Given the description of an element on the screen output the (x, y) to click on. 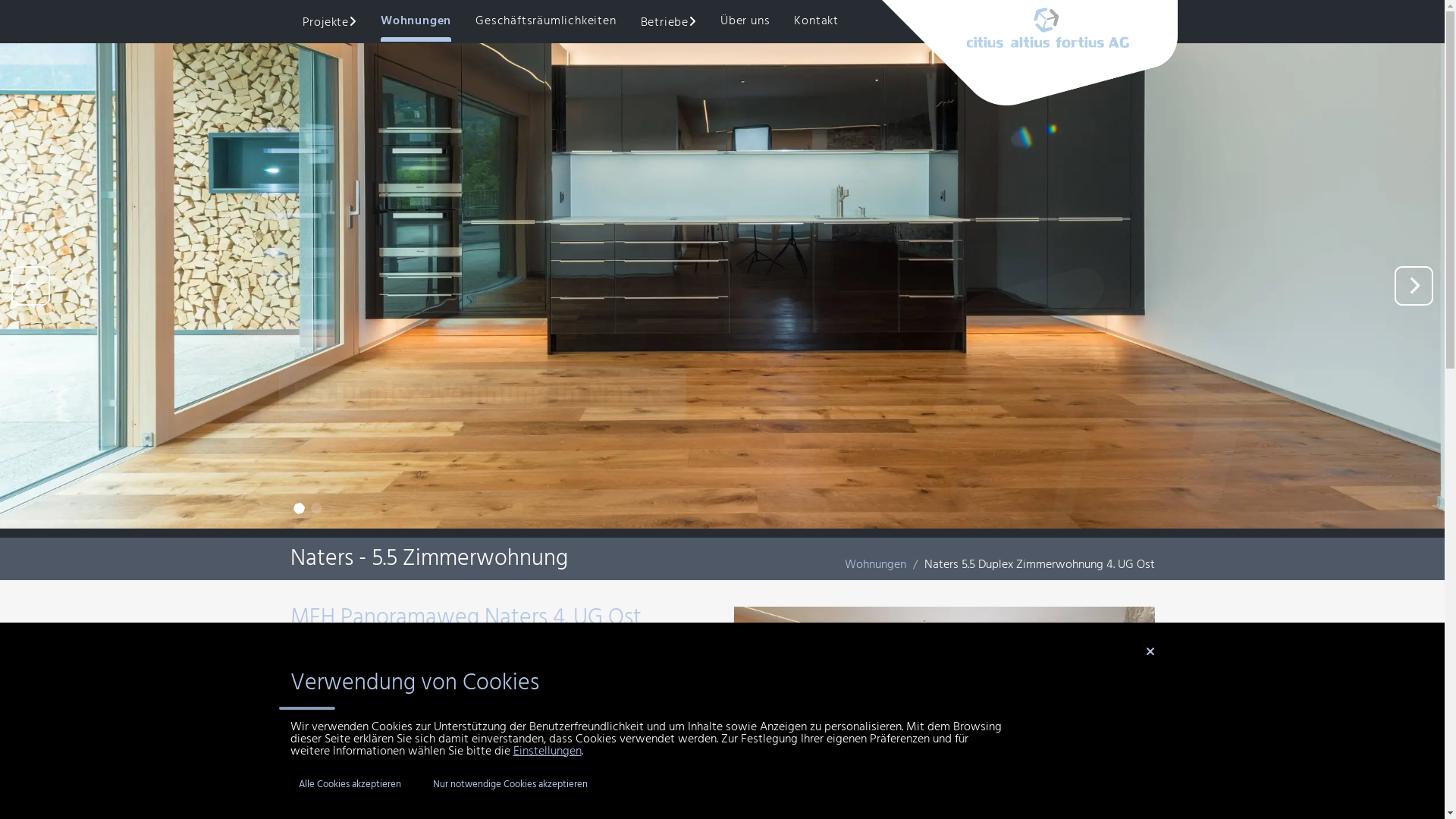
Ben Resort Element type: text (396, 29)
Projekte Element type: text (328, 21)
Wohnungen Element type: text (415, 20)
Nur notwendige Cookies akzeptieren Element type: text (510, 783)
Bistro Des Alpes Element type: text (707, 29)
Wohnungen Element type: text (875, 564)
Alle Cookies akzeptieren Element type: text (348, 783)
Kontakt Element type: text (815, 20)
Einstellungen Element type: text (546, 751)
Betriebe Element type: text (668, 21)
